Given the description of an element on the screen output the (x, y) to click on. 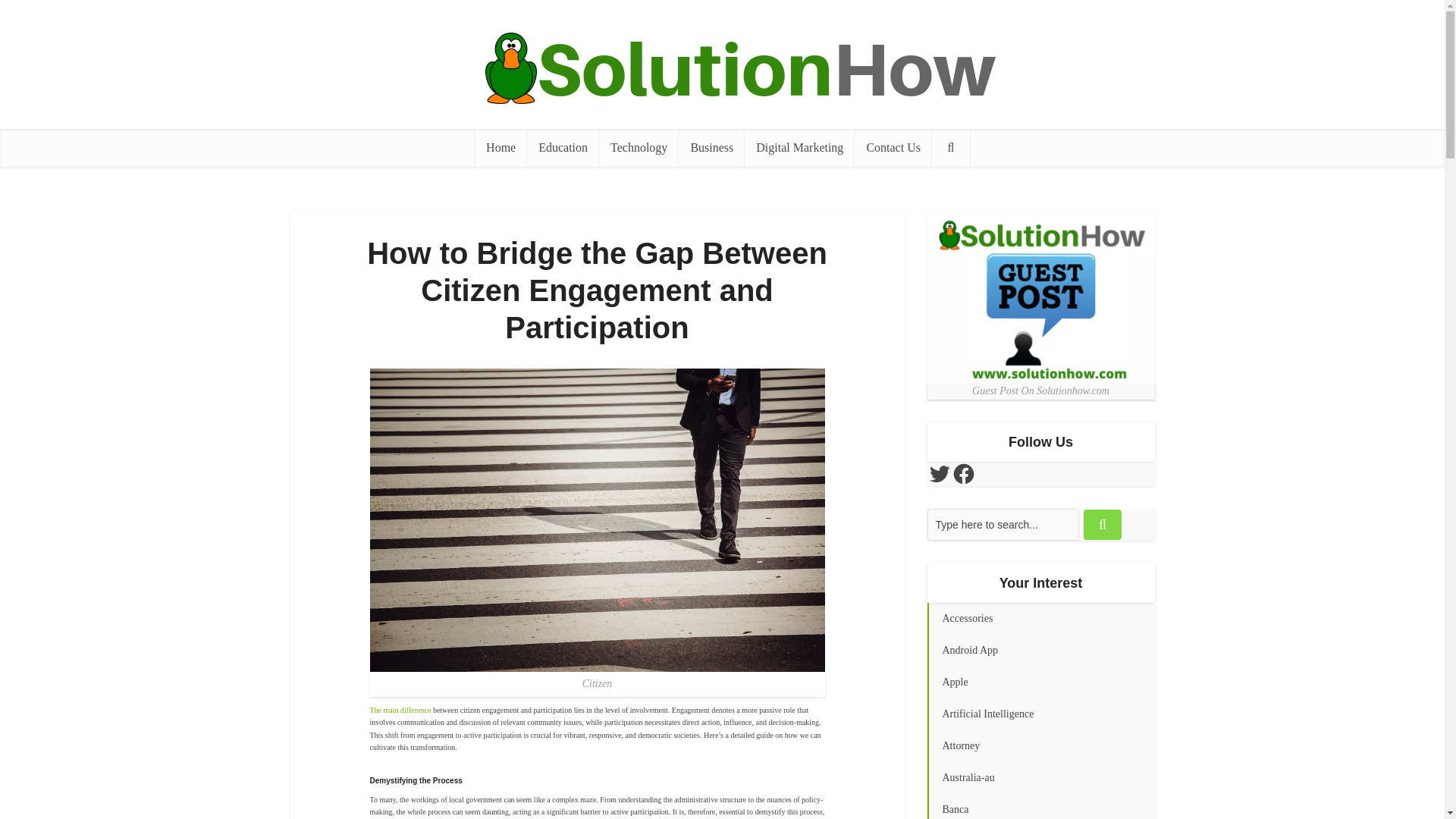
Education (562, 147)
Type here to search... (1002, 524)
Type here to search... (1002, 524)
SolutionHow (721, 68)
Facebook (962, 473)
Android App (1040, 650)
Contact Us (892, 147)
Accessories (1040, 618)
The main difference (399, 709)
Business (711, 147)
Home (500, 147)
Digital Marketing (799, 147)
Twitter (938, 473)
Technology (638, 147)
